Given the description of an element on the screen output the (x, y) to click on. 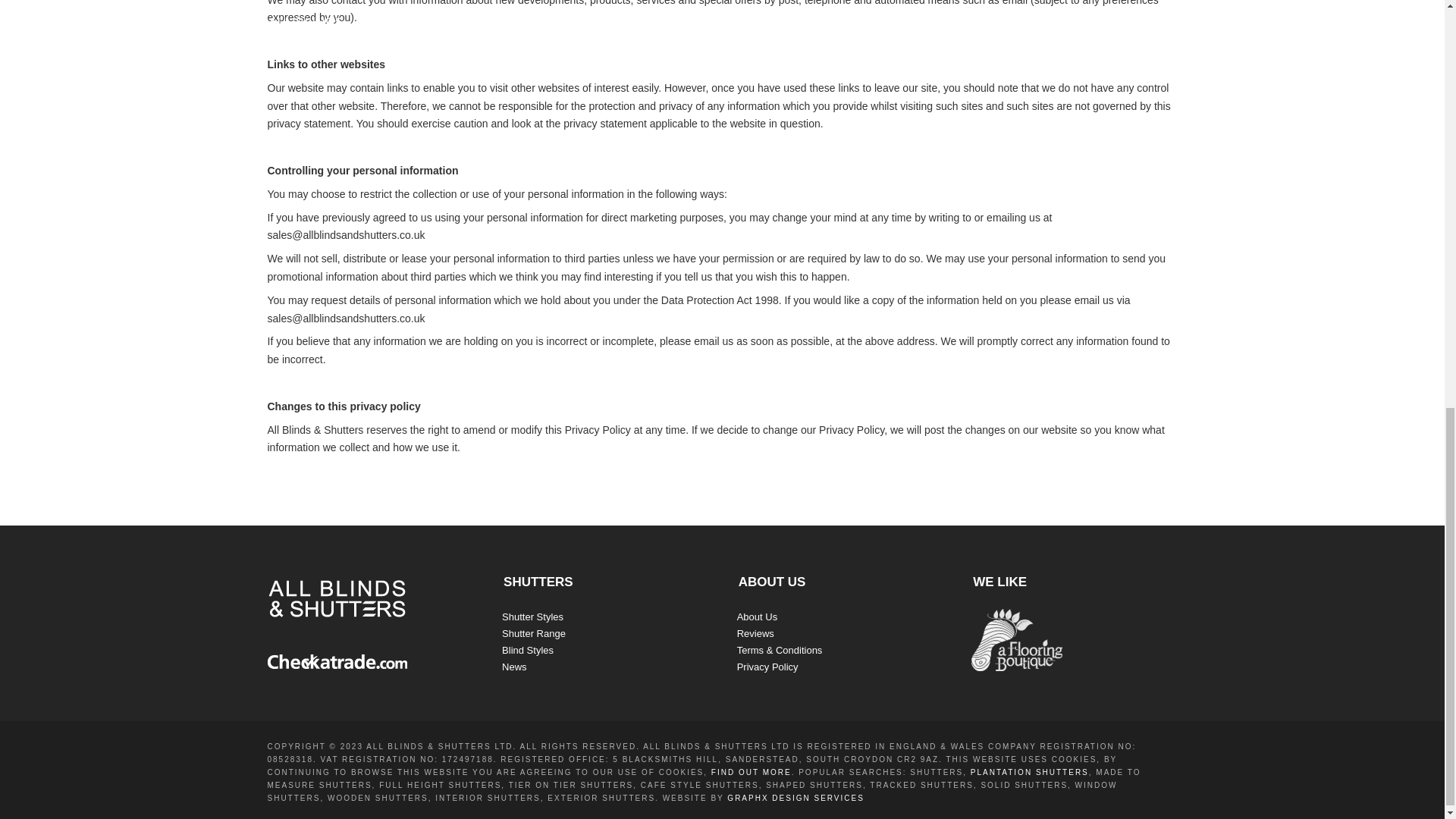
News (514, 666)
Privacy Policy (766, 666)
PLANTATION SHUTTERS (1030, 772)
Reviews (755, 633)
Blind Styles (527, 650)
Shutter Styles (532, 616)
About Us (756, 616)
Shutter Range (534, 633)
FIND OUT MORE (751, 772)
GRAPHX DESIGN SERVICES (795, 797)
